Given the description of an element on the screen output the (x, y) to click on. 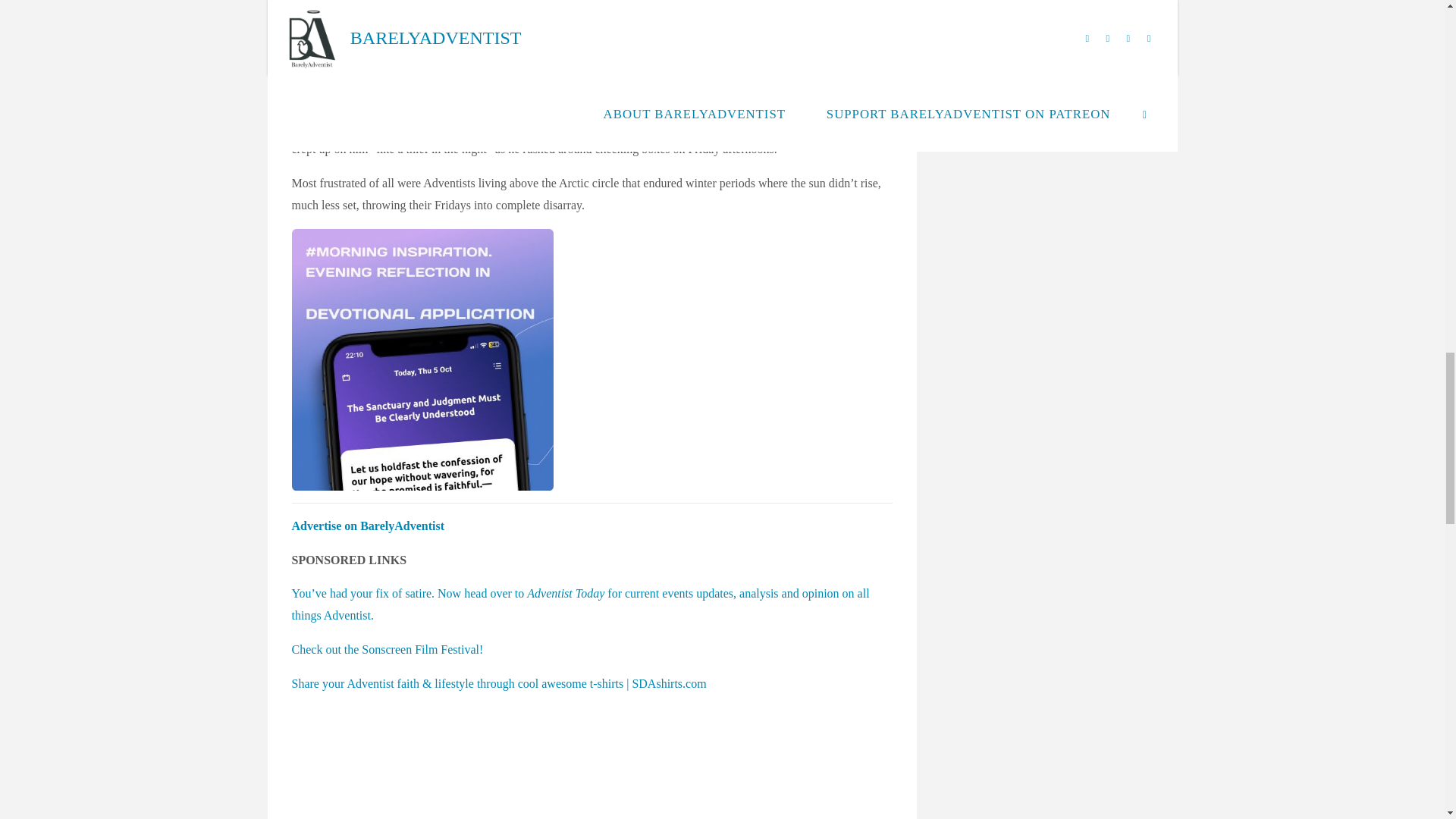
La Sierra University-based, H.M.S. Divinity School (417, 15)
Check out the Sonscreen Film Festival! (387, 649)
Advertise on BarelyAdventist (367, 525)
